Given the description of an element on the screen output the (x, y) to click on. 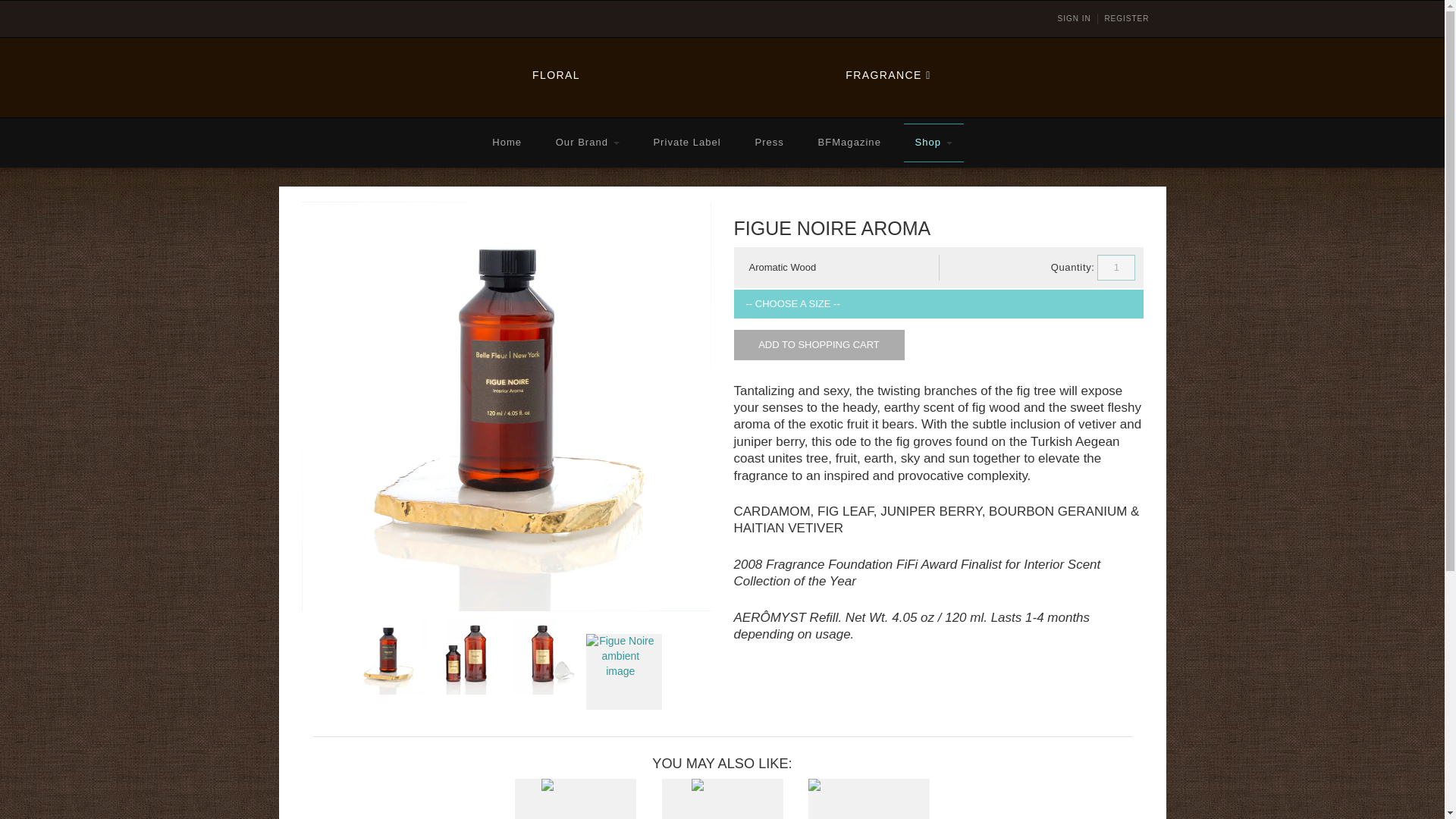
Figue Noire bottle and funnel (544, 656)
Add to Shopping Cart (818, 344)
Belle Fleur NY (719, 75)
SIGN IN (1073, 18)
View Bone Leather (869, 811)
FRAGRANCE (887, 74)
Home (506, 142)
Figue Noire bottle sizes (467, 656)
REGISTER (1125, 18)
Add to Shopping Cart (818, 344)
Figue Noire ambient image (624, 671)
Shop (933, 142)
BFMagazine (849, 142)
Figue Noire (388, 656)
